Given the description of an element on the screen output the (x, y) to click on. 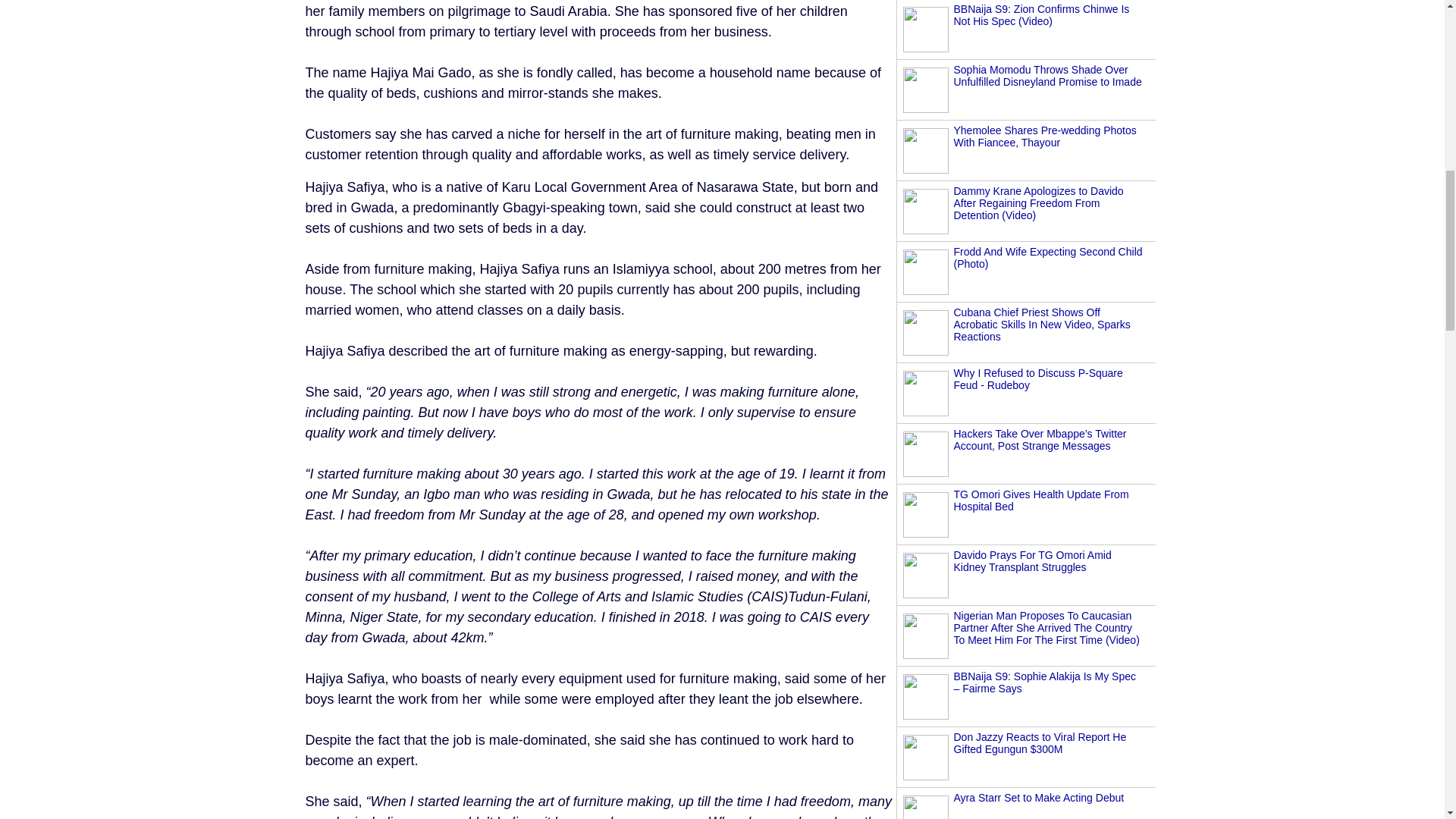
Yhemolee Shares Pre-wedding Photos With Fiancee, Thayour (1045, 136)
Why I Refused to Discuss P-Square Feud - Rudeboy (1037, 378)
TG Omori Gives Health Update From Hospital Bed (1041, 500)
